Given the description of an element on the screen output the (x, y) to click on. 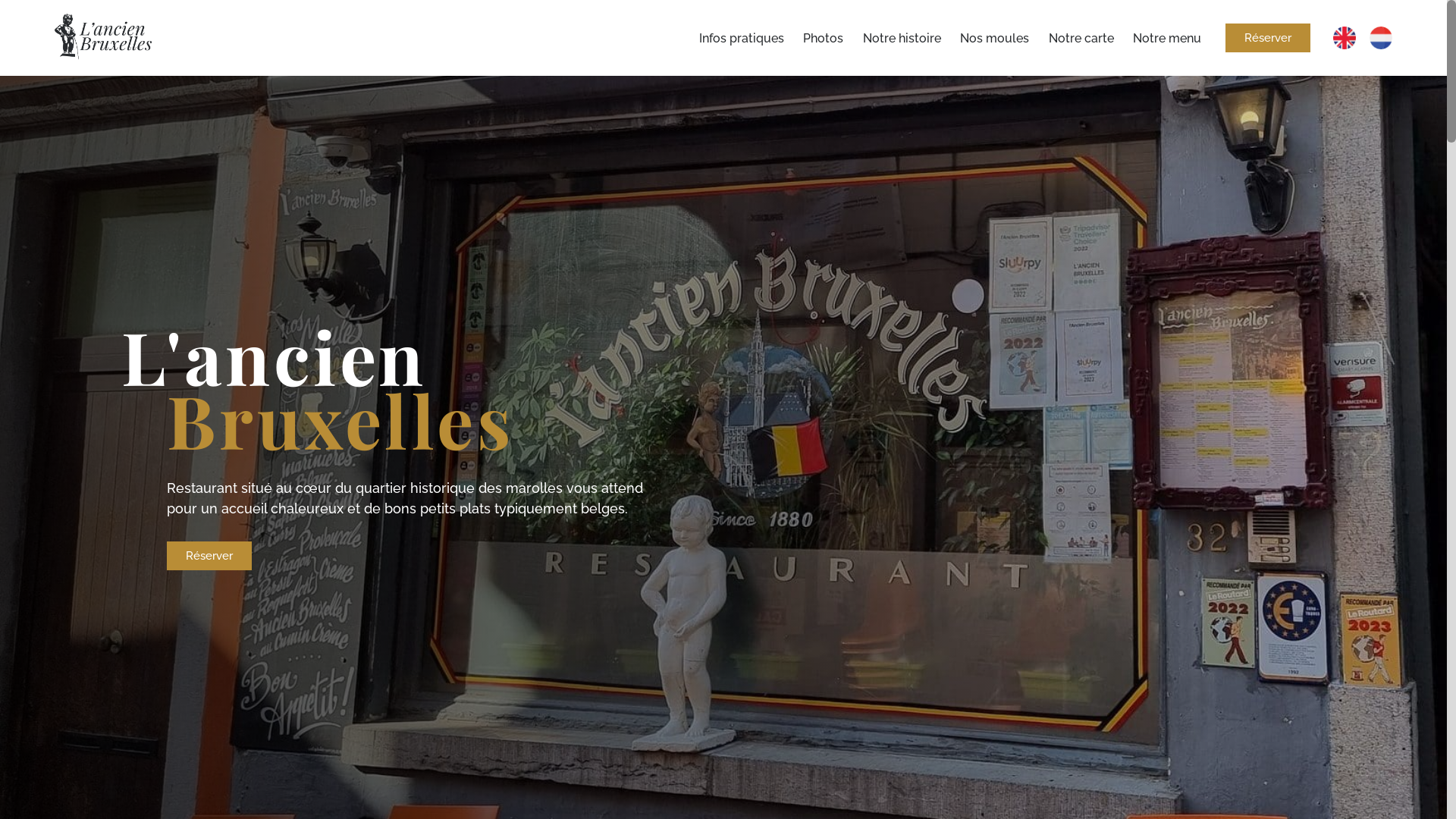
Infos pratiques Element type: text (741, 37)
Notre carte Element type: text (1080, 37)
Photos Element type: text (823, 37)
Notre menu Element type: text (1166, 37)
Notre histoire Element type: text (901, 37)
Nos moules Element type: text (994, 37)
logo_1@2x Element type: hover (102, 36)
